Given the description of an element on the screen output the (x, y) to click on. 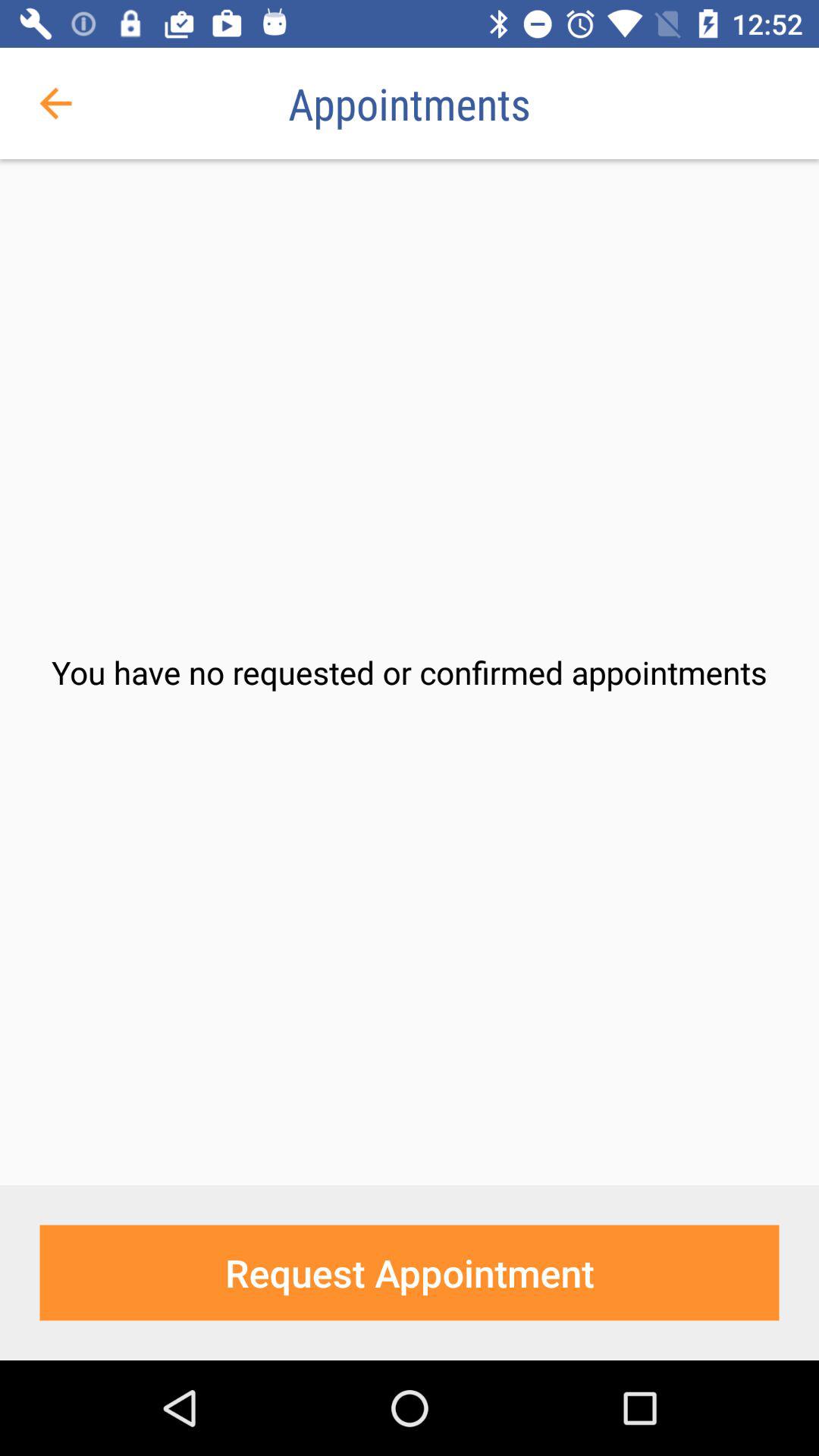
turn off the icon at the top left corner (55, 103)
